Given the description of an element on the screen output the (x, y) to click on. 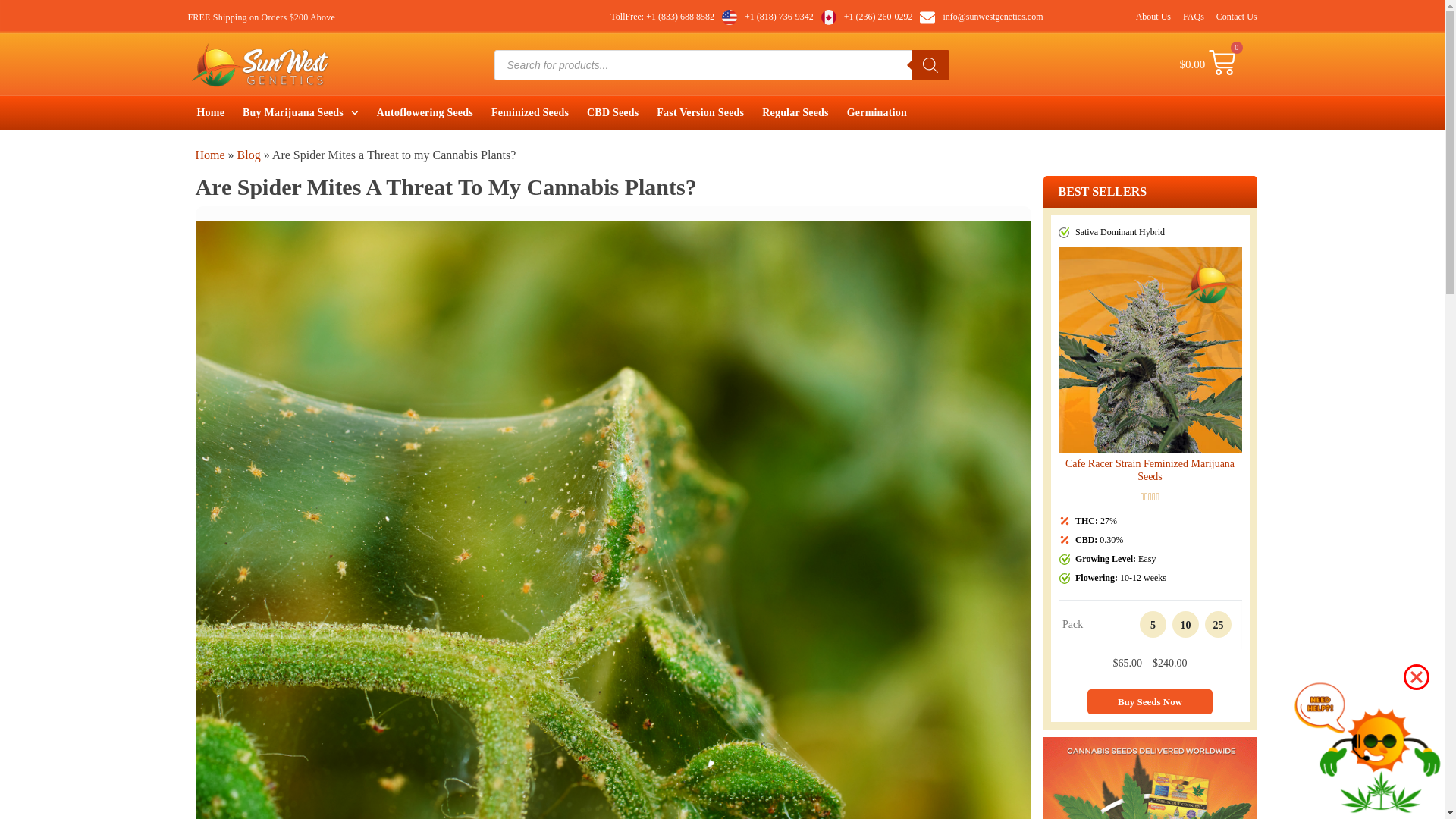
Feminized Seeds (529, 112)
CBD Seeds (612, 112)
Contact Us (1236, 16)
About Us (1152, 16)
Regular Seeds (795, 112)
Home (210, 112)
Germination (876, 112)
Buy Marijuana Seeds (300, 112)
FAQs (1193, 16)
Autoflowering Seeds (424, 112)
Fast Version Seeds (699, 112)
